Given the description of an element on the screen output the (x, y) to click on. 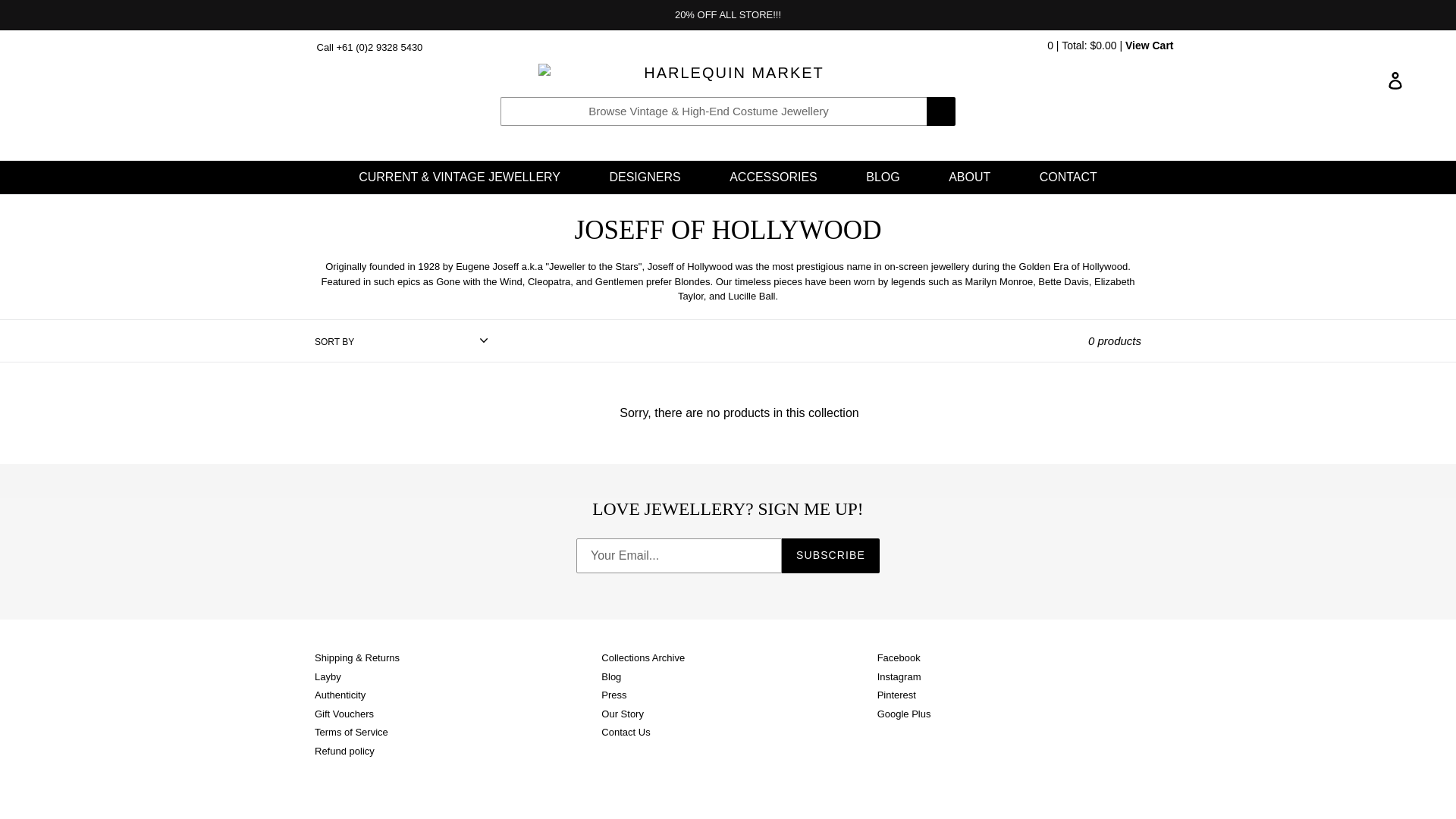
Log in (1395, 80)
View Cart (1149, 45)
